Given the description of an element on the screen output the (x, y) to click on. 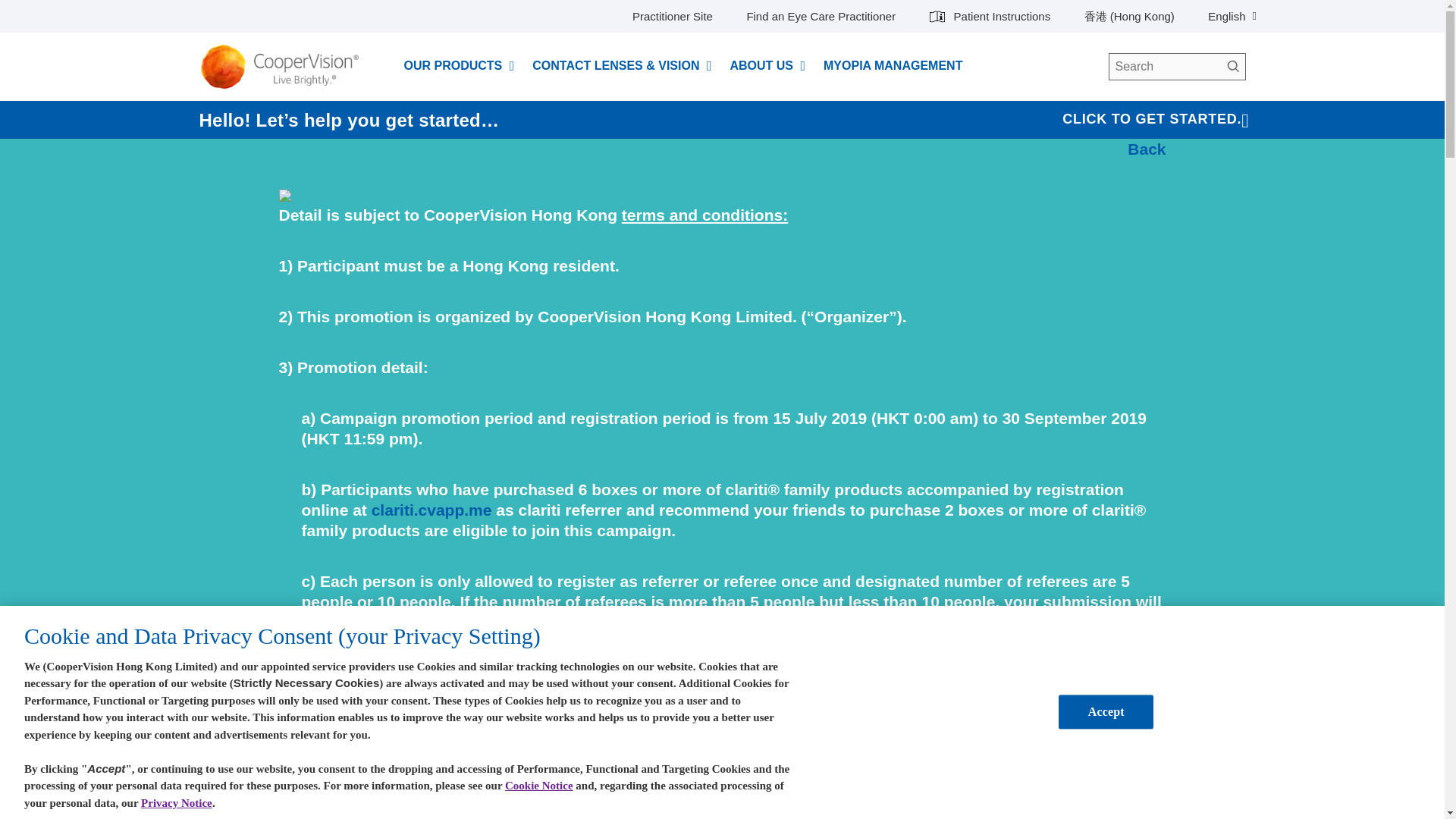
OUR PRODUCTS (452, 65)
Practitioner Site (672, 16)
Patient Instructions (990, 16)
Search (1232, 66)
CooperVision Hong Kong (284, 66)
English (1231, 16)
Enter the terms you wish to search for. (1177, 66)
Find an Eye Care Practitioner (820, 16)
Search (1232, 66)
